Given the description of an element on the screen output the (x, y) to click on. 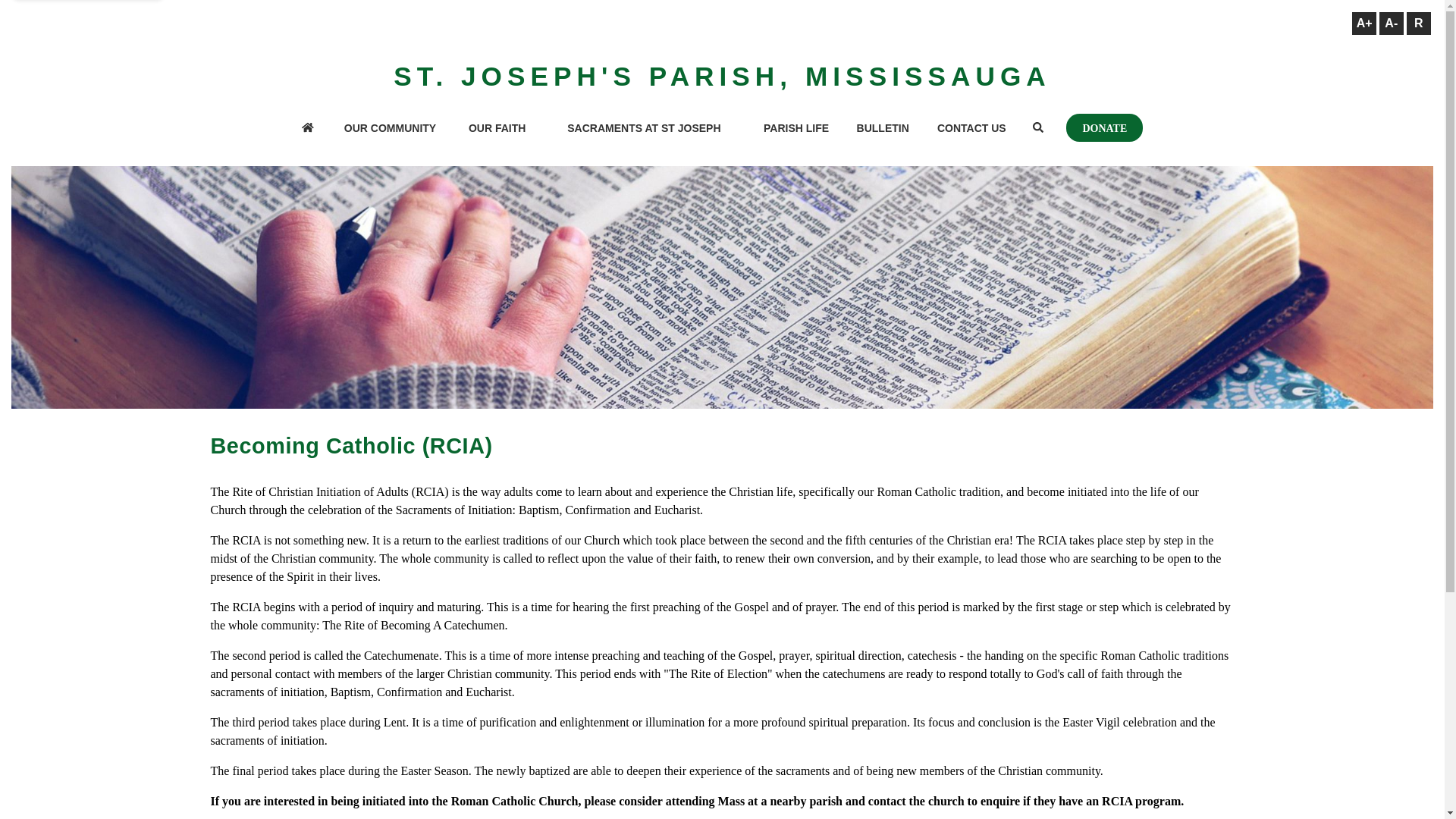
Reset font (1418, 23)
Decrease font (1390, 23)
A- (1390, 23)
Donate (1103, 126)
OUR COMMUNITY (389, 128)
R (1418, 23)
Search (1038, 128)
Home (306, 128)
Increase font (1363, 23)
OUR FAITH (496, 128)
